Given the description of an element on the screen output the (x, y) to click on. 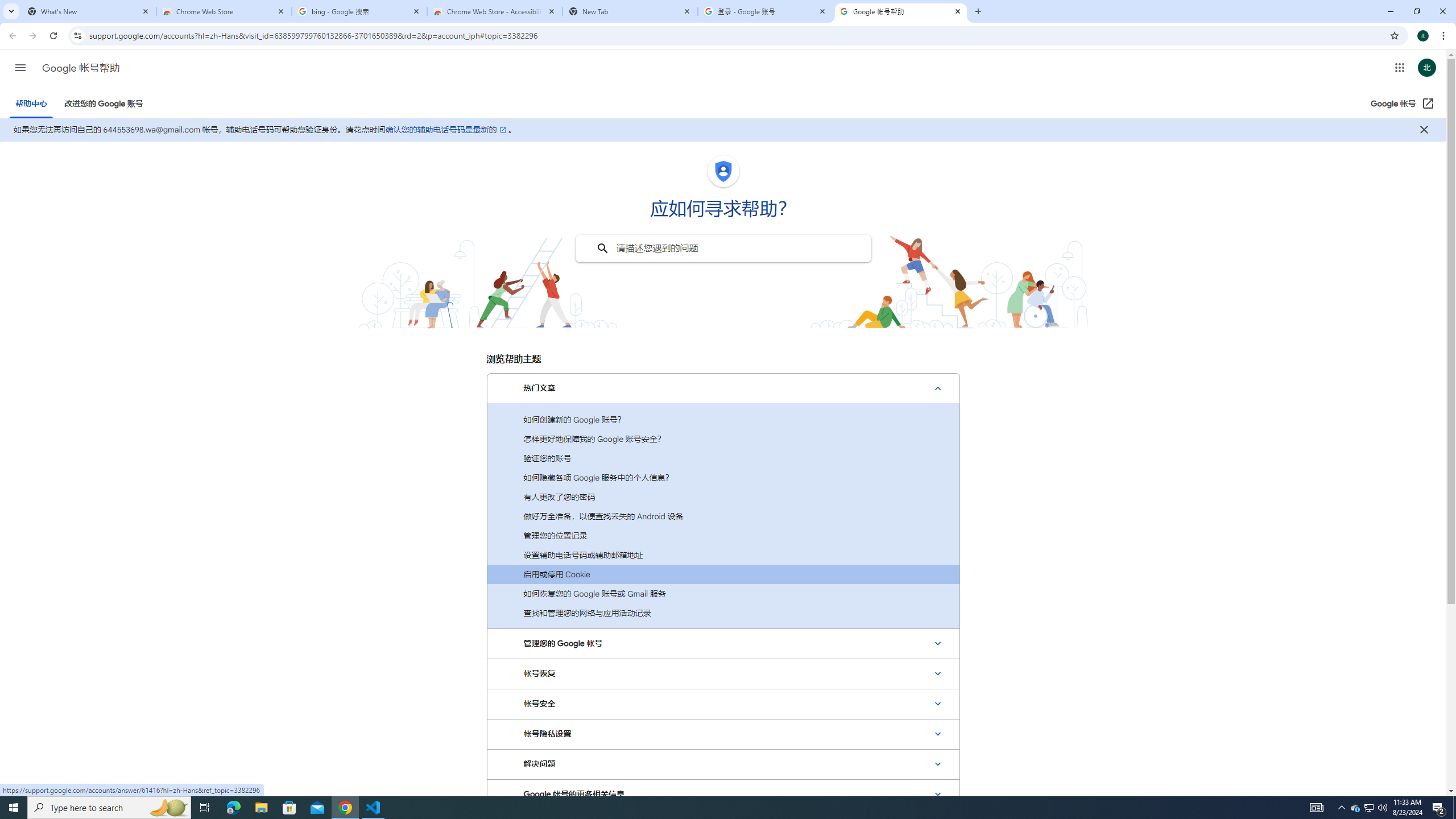
Chrome (1445, 35)
Search tabs (10, 11)
Back (10, 35)
Reload (52, 35)
New Tab (977, 11)
